Given the description of an element on the screen output the (x, y) to click on. 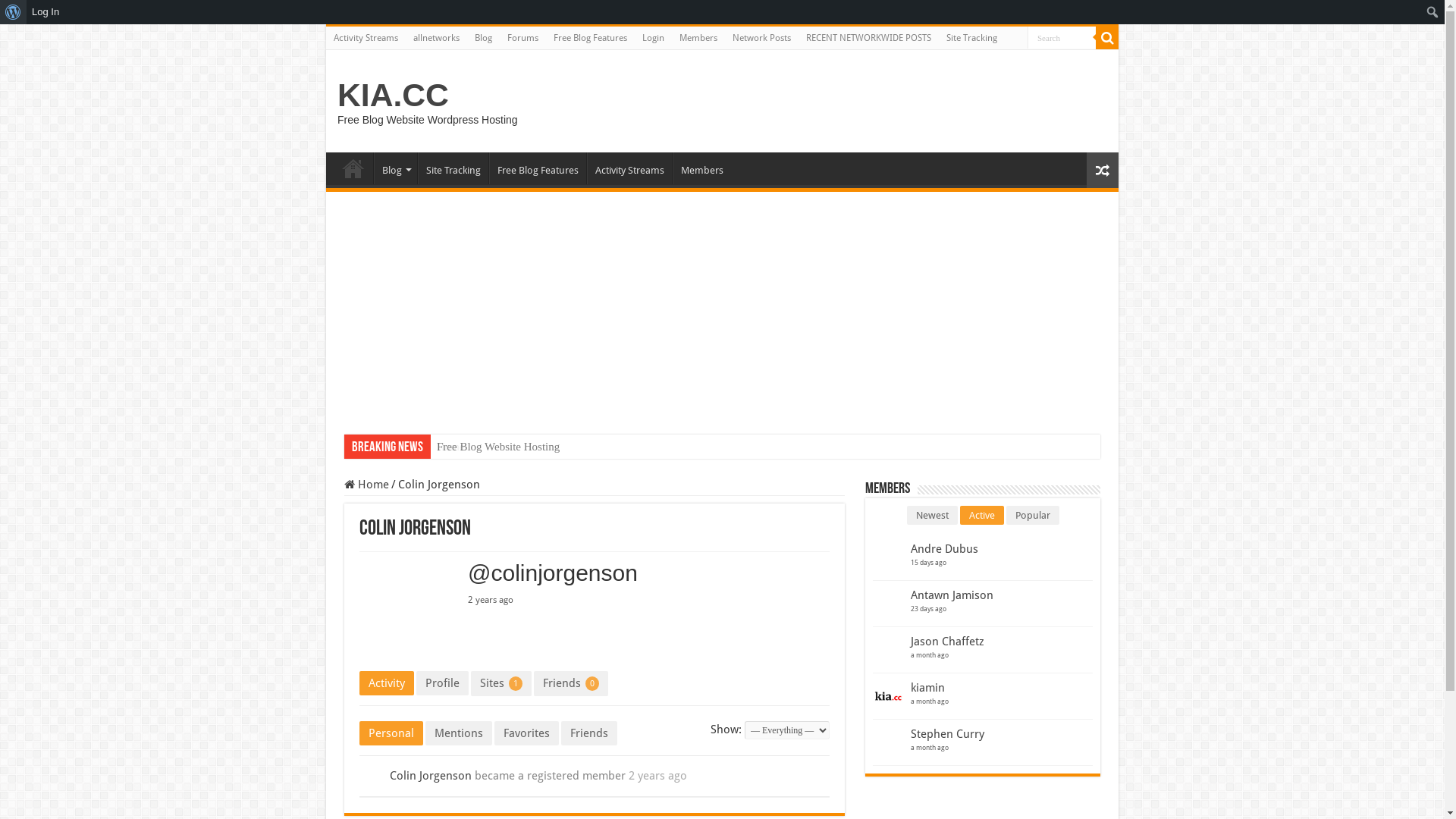
Activity Streams Element type: text (628, 168)
Active Element type: text (982, 514)
Colin Jorgenson Element type: text (430, 775)
About WordPress Element type: text (13, 12)
Personal Element type: text (391, 733)
Free Blog Website Hosting Element type: text (497, 446)
Search Element type: text (15, 12)
Site Tracking Element type: text (452, 168)
Favorites Element type: text (526, 733)
RECENT NETWORKWIDE POSTS Element type: text (868, 37)
Mentions Element type: text (458, 733)
Blog Element type: text (483, 37)
Friends Element type: text (589, 733)
Popular Element type: text (1031, 514)
Search Element type: text (1106, 37)
Activity Streams Element type: text (365, 37)
Search Element type: hover (1061, 37)
Login Element type: text (652, 37)
KIA.CC Element type: text (392, 94)
Blog Element type: text (395, 168)
Members Element type: text (697, 37)
2 years ago Element type: text (657, 775)
Members Element type: text (701, 168)
Home Element type: text (366, 484)
Antawn Jamison Element type: text (951, 595)
Sites 1 Element type: text (500, 683)
Jason Chaffetz Element type: text (947, 641)
Newest Element type: text (931, 514)
Free Blog Features Element type: text (590, 37)
Log In Element type: text (45, 12)
Home Element type: text (353, 168)
Site Tracking Element type: text (971, 37)
Activity Element type: text (386, 683)
Free Blog Features Element type: text (537, 168)
Andre Dubus Element type: text (944, 548)
allnetworks Element type: text (436, 37)
kiamin Element type: text (927, 687)
Advertisement Element type: hover (722, 305)
Stephen Curry Element type: text (947, 733)
Network Posts Element type: text (761, 37)
Profile Element type: text (442, 683)
Forums Element type: text (522, 37)
Friends 0 Element type: text (570, 683)
